Given the description of an element on the screen output the (x, y) to click on. 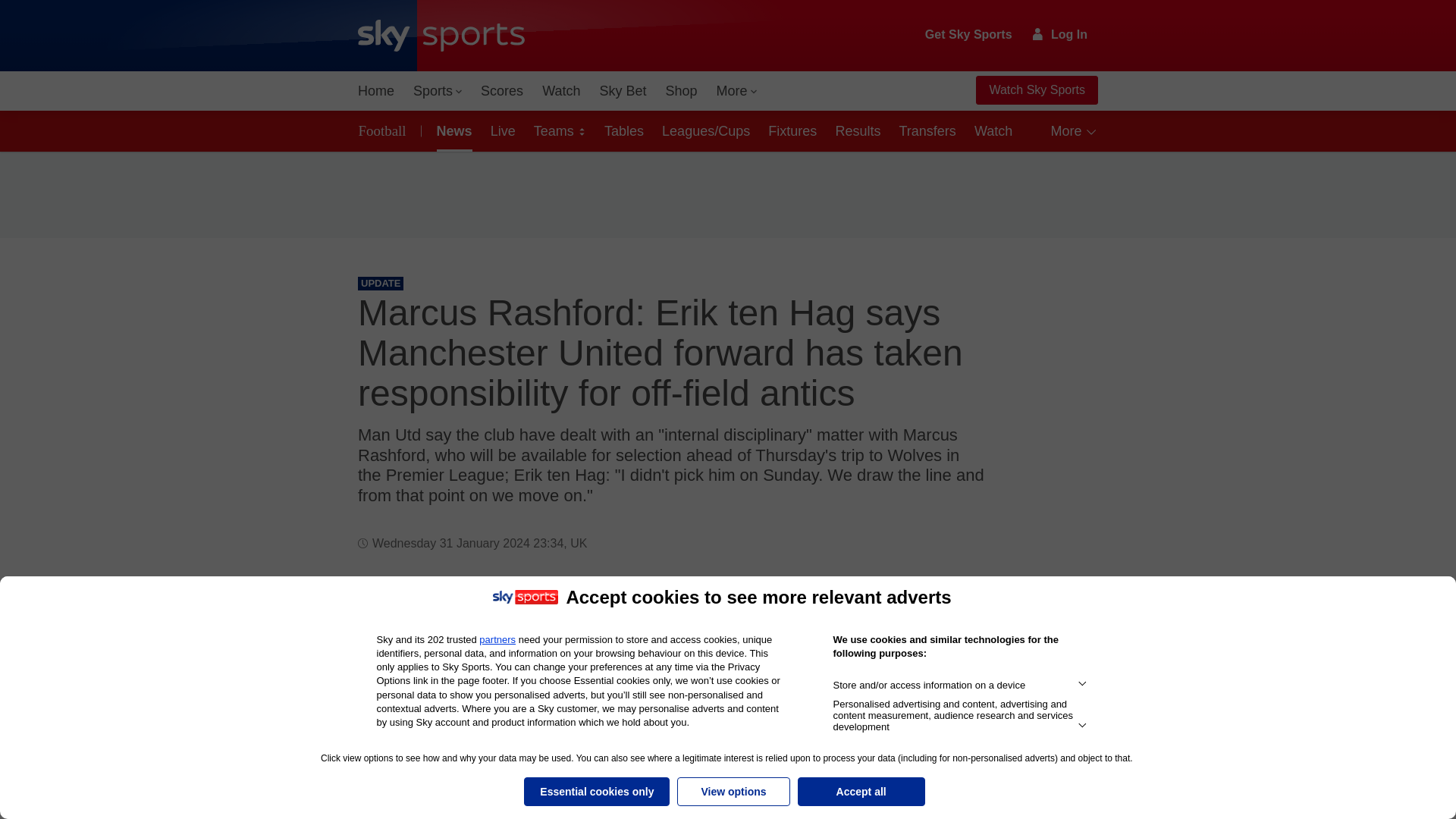
Watch (561, 91)
Sports (437, 91)
Home (375, 91)
Shop (681, 91)
More (736, 91)
Football (385, 130)
Get Sky Sports (968, 34)
Sky Bet (622, 91)
News (451, 130)
Scores (502, 91)
